Given the description of an element on the screen output the (x, y) to click on. 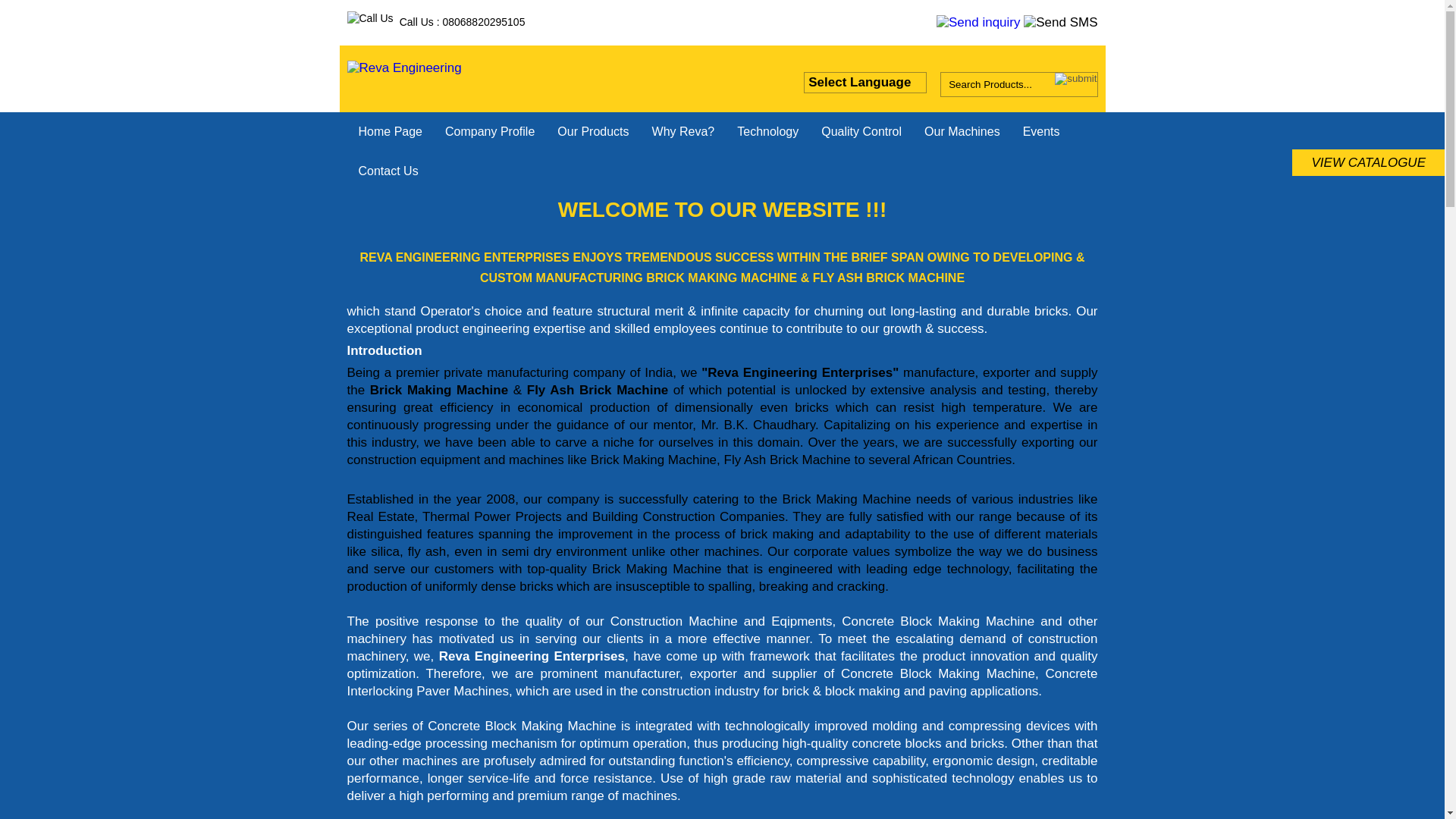
Send inquiry (978, 22)
submit (1075, 78)
Home Page (390, 131)
Company Profile (489, 131)
Select Language (865, 82)
Our Products (593, 131)
Reva Engineering (404, 68)
Call Us (370, 18)
Search Products... (997, 84)
Send SMS (1060, 22)
